Given the description of an element on the screen output the (x, y) to click on. 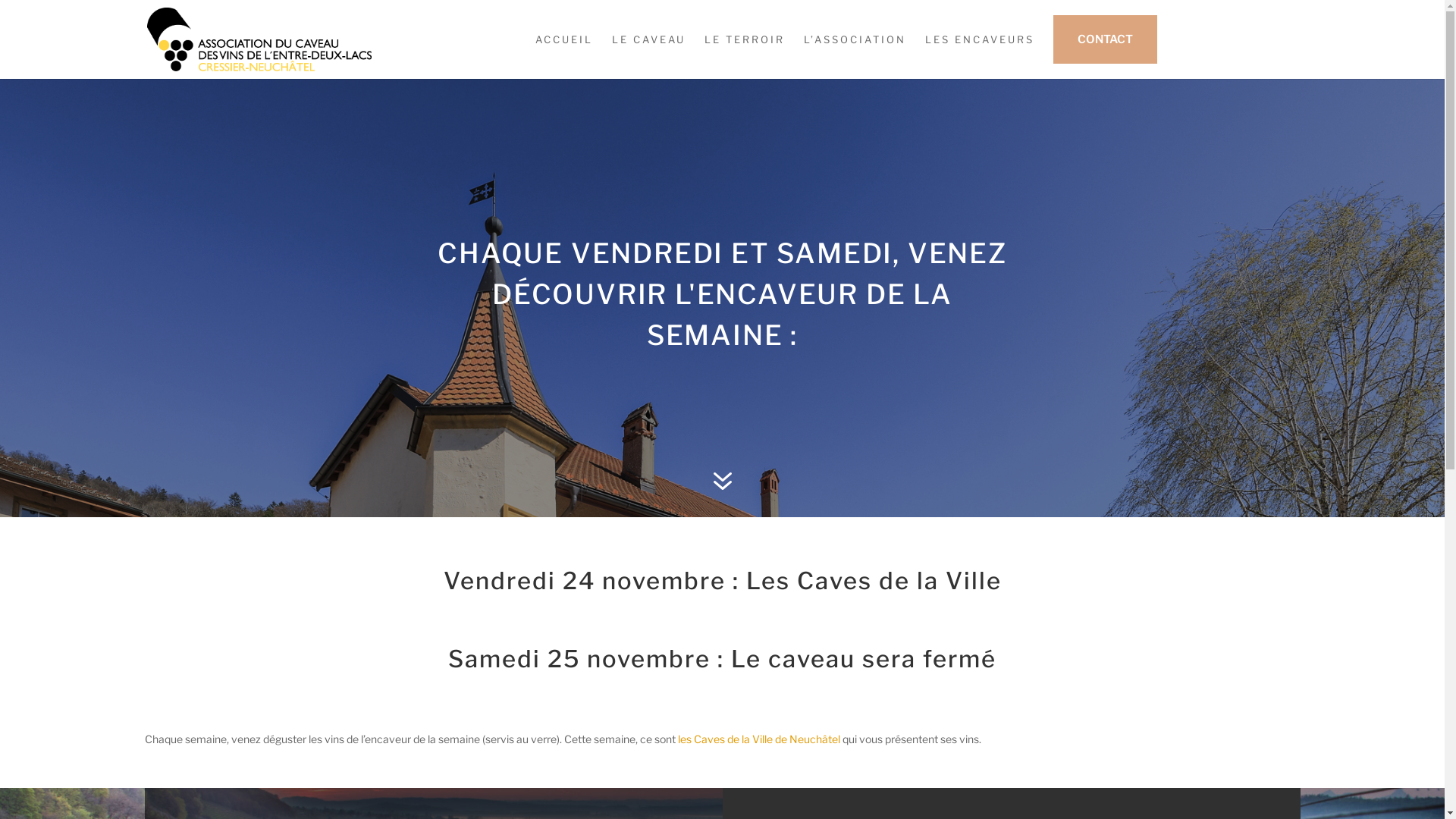
ACCUEIL Element type: text (564, 55)
7 Element type: text (721, 481)
LE TERROIR Element type: text (743, 55)
LE CAVEAU Element type: text (647, 55)
LES ENCAVEURS Element type: text (979, 55)
CONTACT Element type: text (1104, 46)
